Given the description of an element on the screen output the (x, y) to click on. 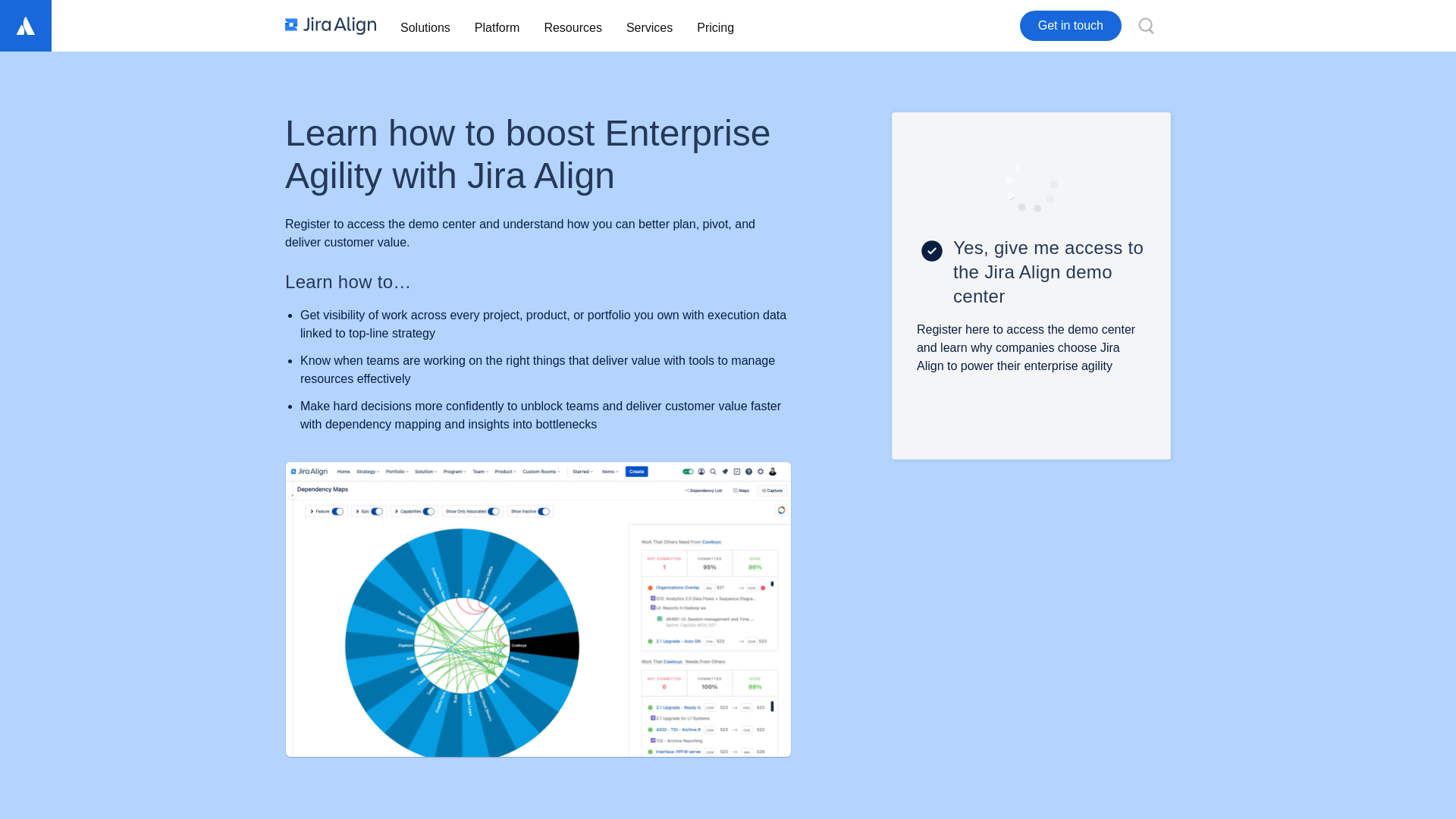
Get in touch (1070, 25)
Services (649, 25)
Resources (571, 25)
Solutions (425, 25)
Platform (497, 25)
Pricing (714, 25)
